Given the description of an element on the screen output the (x, y) to click on. 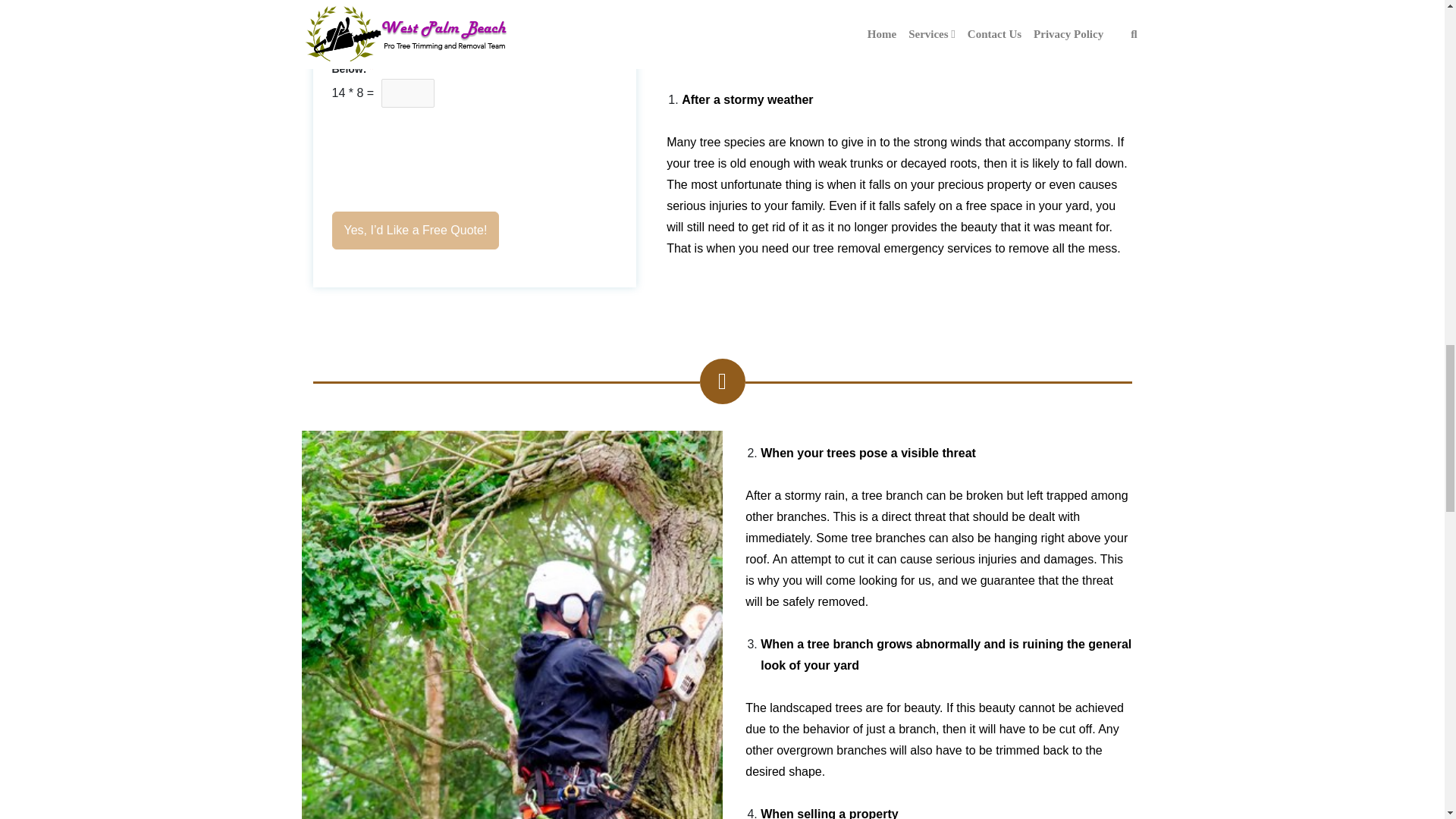
Widget containing checkbox for hCaptcha security challenge (446, 151)
